Given the description of an element on the screen output the (x, y) to click on. 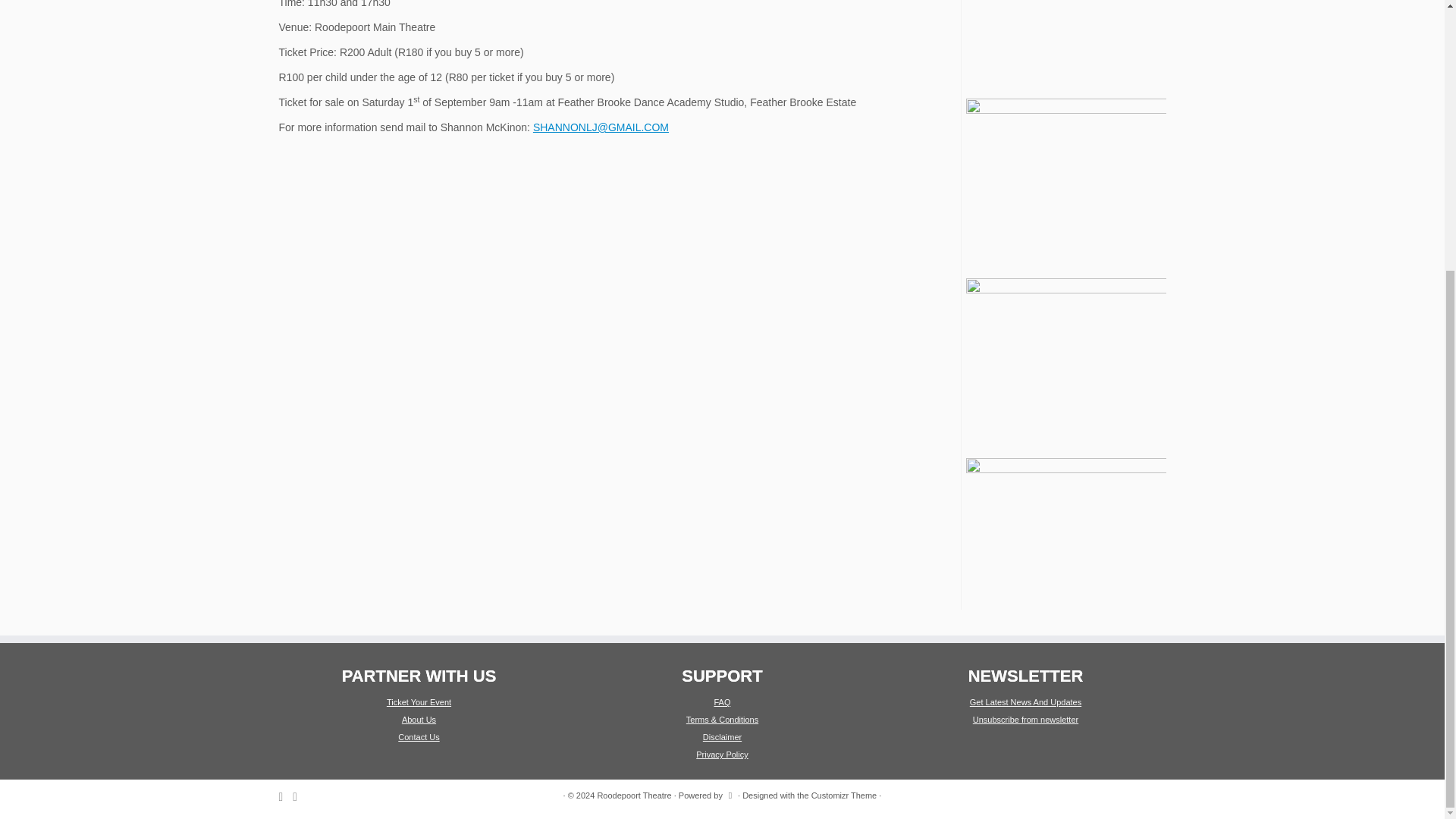
Customizr Theme (843, 795)
Powered by WordPress (730, 792)
Follow me on Twitter (286, 796)
Follow me on Facebook (299, 796)
Roodepoort Theatre (633, 795)
